Given the description of an element on the screen output the (x, y) to click on. 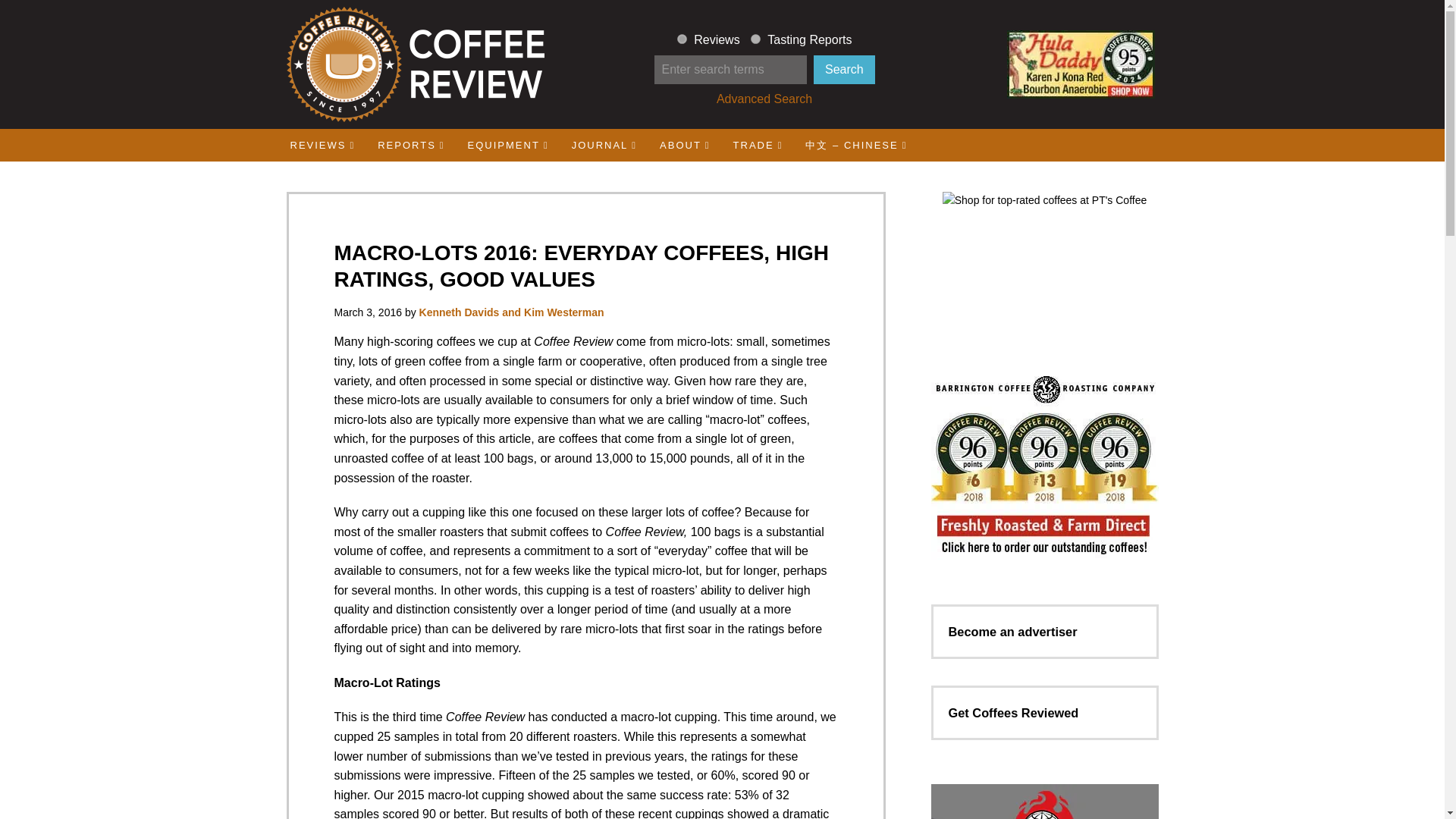
REVIEWS (322, 144)
post (755, 39)
review (682, 39)
Get coffees reviewed (1012, 712)
Search (844, 69)
Become an advertiser (1012, 631)
COFFEE REVIEW (414, 64)
ABOUT (684, 144)
JOURNAL (603, 144)
EQUIPMENT (508, 144)
REPORTS (410, 144)
Search (844, 69)
Search (844, 69)
